Given the description of an element on the screen output the (x, y) to click on. 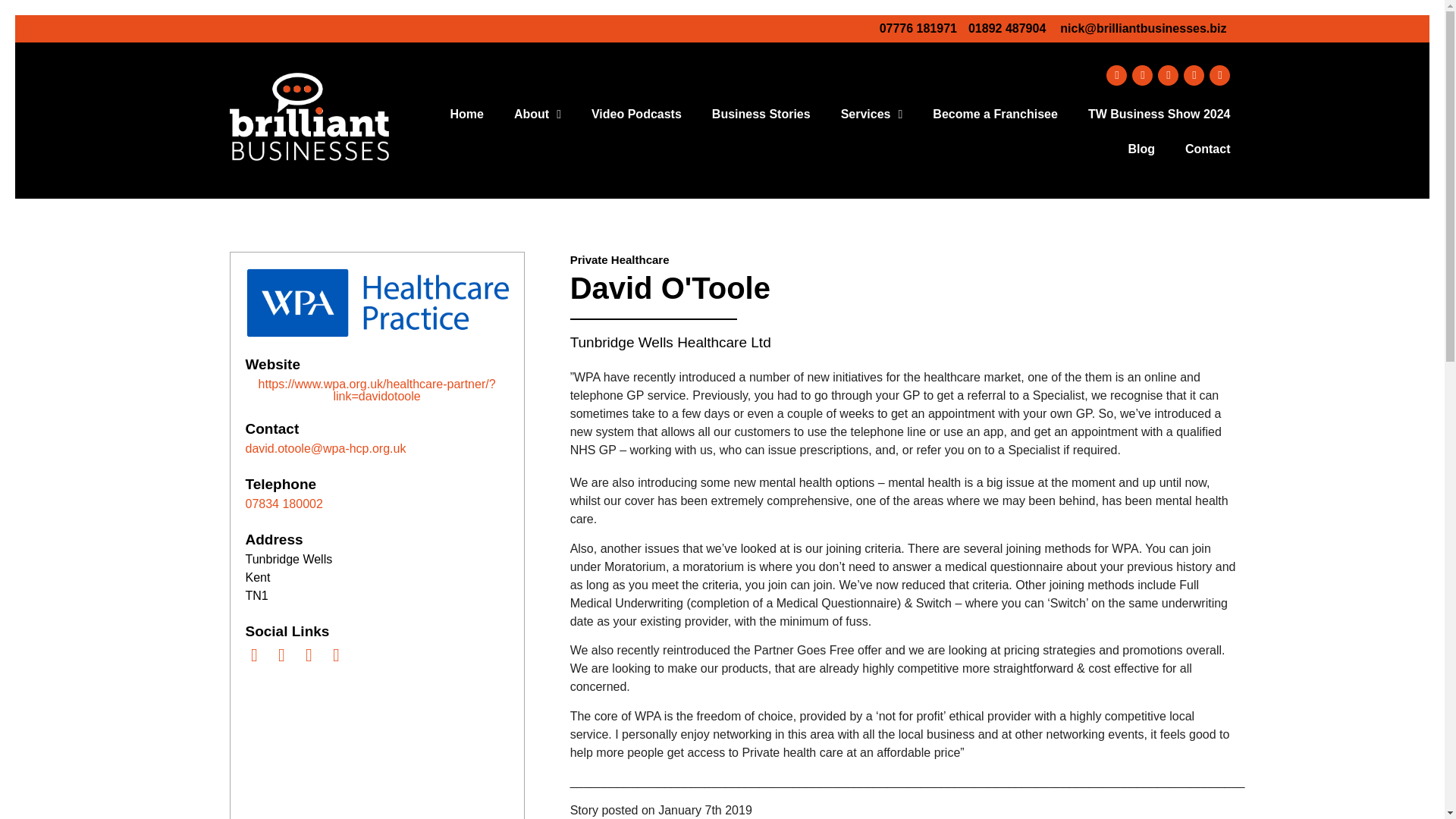
TN1 (377, 751)
Become a Franchisee (995, 114)
Services (871, 114)
About (537, 114)
Business Stories (761, 114)
Contact (1208, 149)
Home (465, 114)
Blog (1141, 149)
Video Podcasts (636, 114)
01892 487904 (1006, 28)
07776 181971 (917, 28)
TW Business Show 2024 (1159, 114)
